Given the description of an element on the screen output the (x, y) to click on. 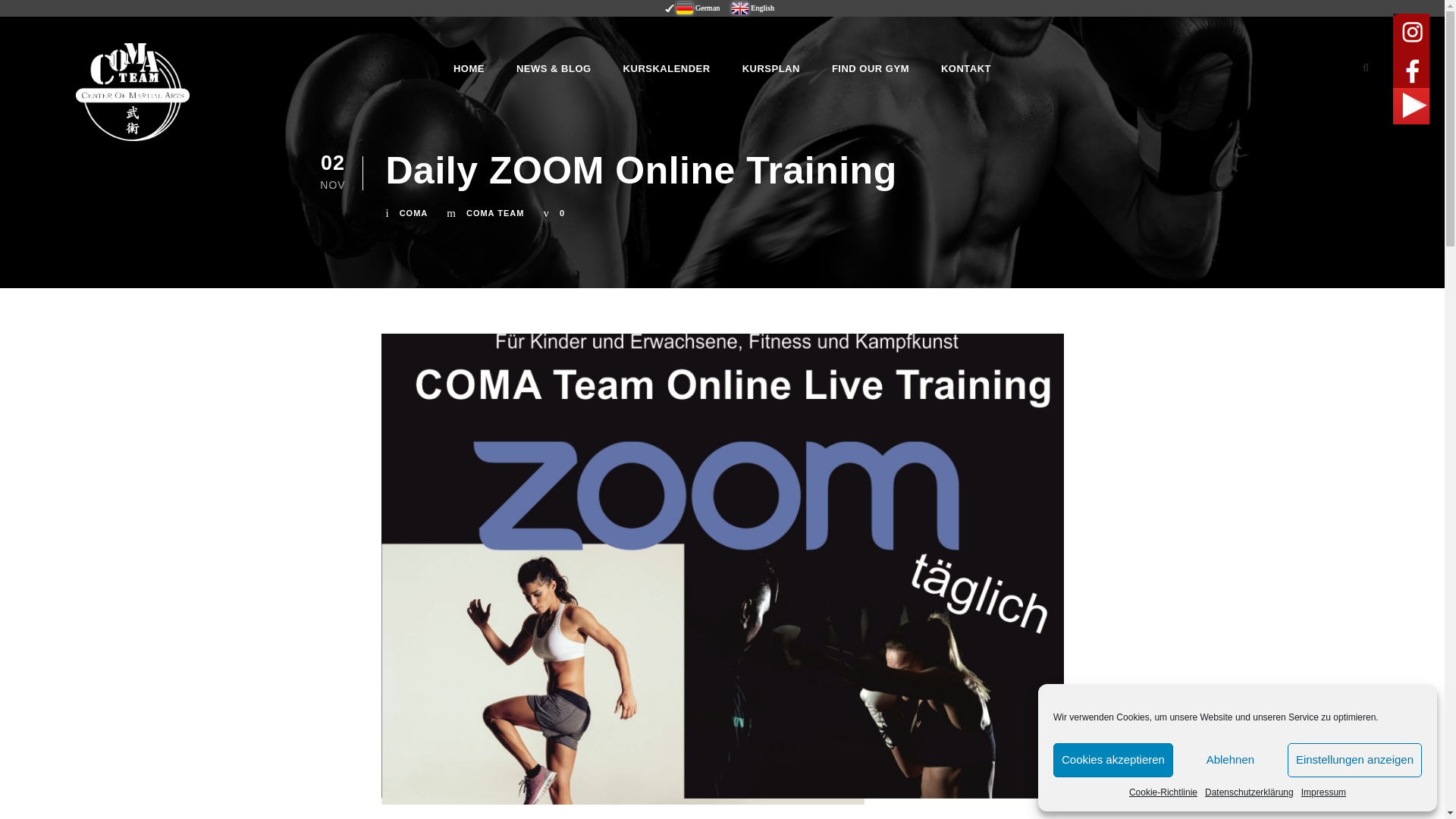
Facebook (1025, 361)
KURSPLAN (770, 68)
Impressum (1323, 792)
Ablehnen (1229, 759)
KONTAKT (965, 68)
Cookies akzeptieren (1112, 759)
Youtube (1411, 105)
Facebook (1411, 69)
Instagram (975, 361)
English (752, 8)
